Given the description of an element on the screen output the (x, y) to click on. 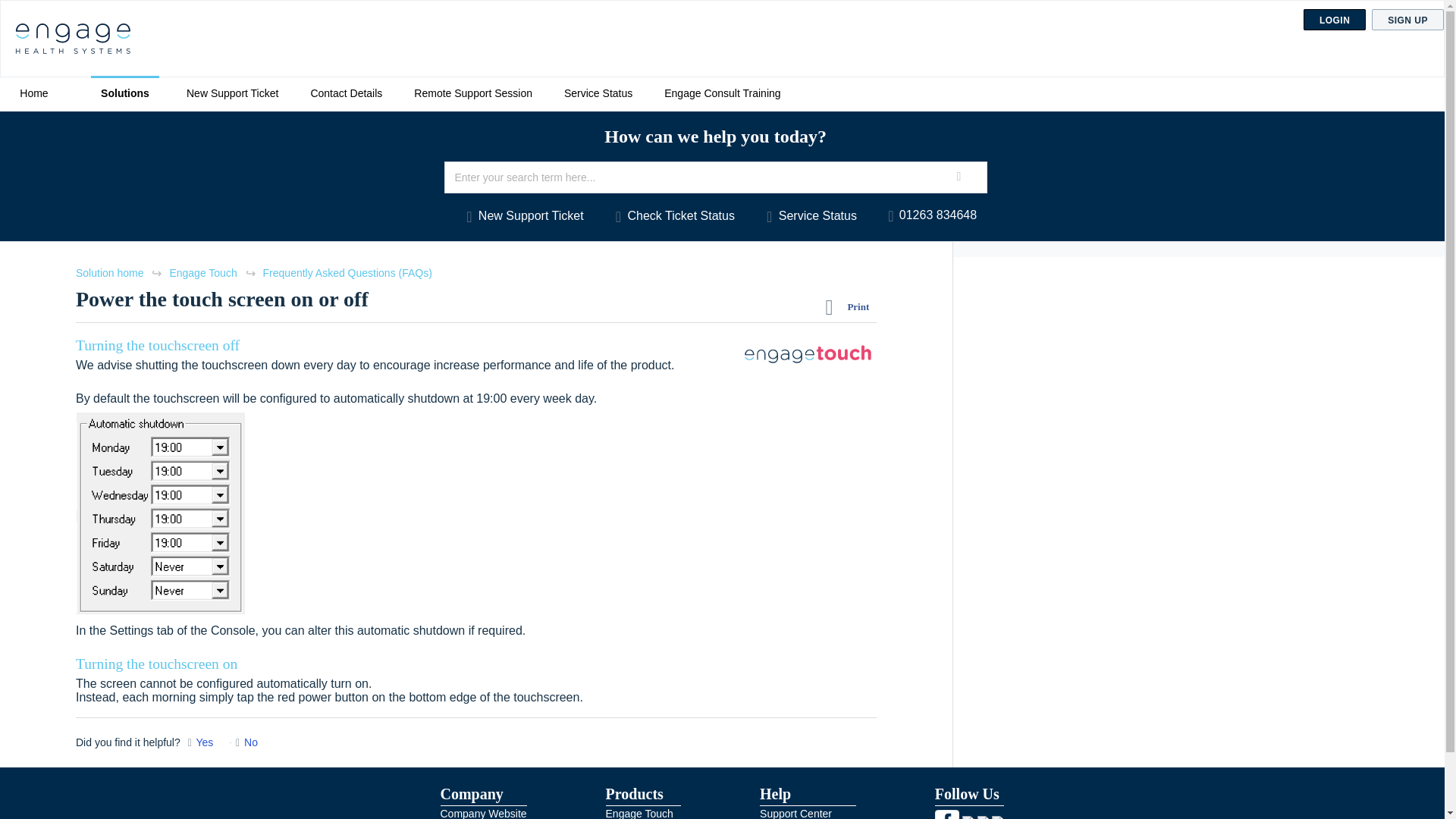
Check service status (808, 216)
New Support Ticket (232, 93)
Solutions (124, 93)
Engage Touch (638, 813)
Check ticket status (670, 216)
Contact us on 01263834648 (929, 216)
Print this Article (850, 306)
Company Website (482, 813)
Print (850, 306)
Contact Details (346, 93)
